Given the description of an element on the screen output the (x, y) to click on. 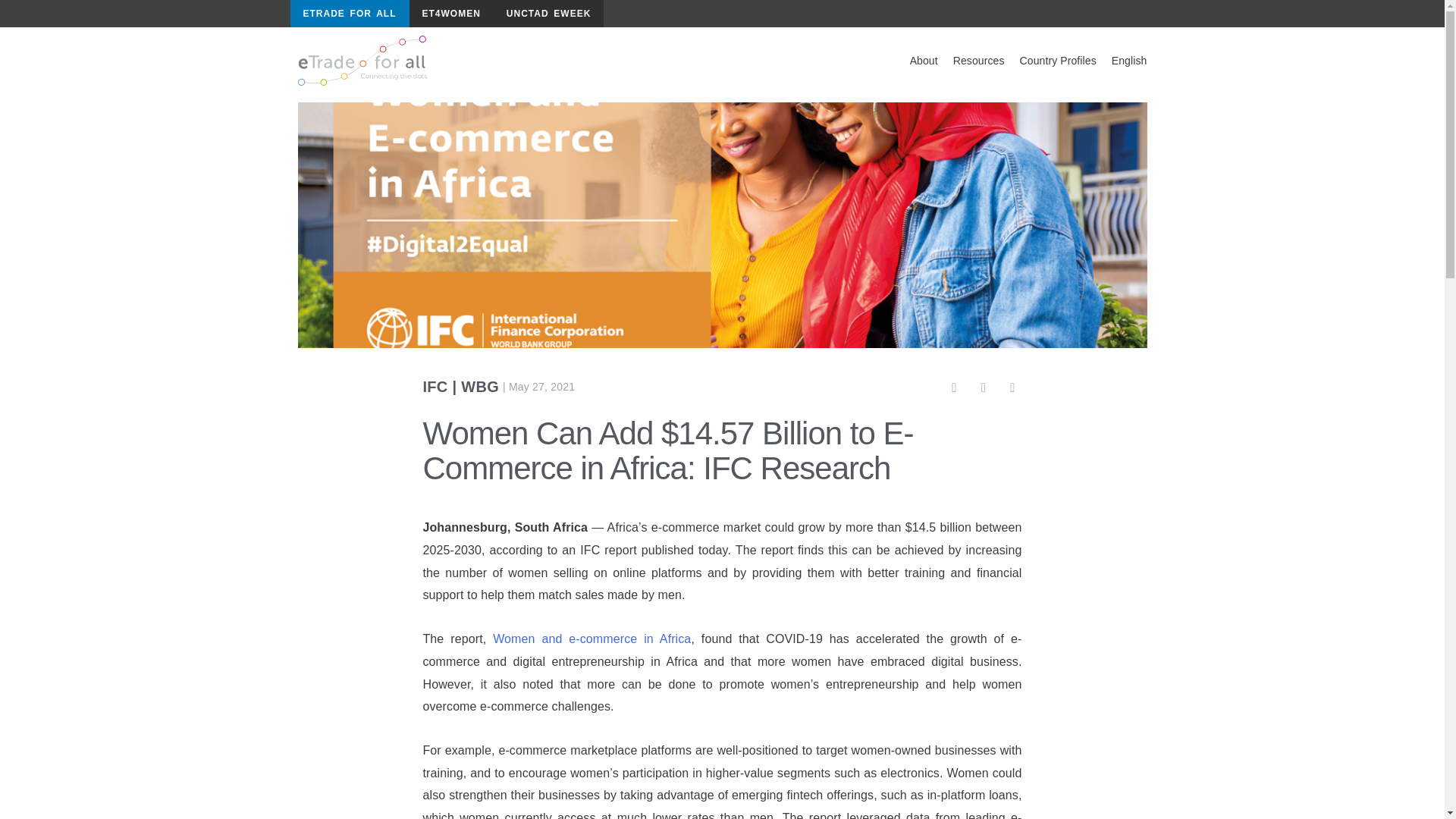
About (923, 60)
ET4WOMEN (451, 13)
Country Profiles (1057, 60)
UNCTAD EWEEK (548, 13)
English (1128, 60)
English (1128, 60)
ETRADE FOR ALL (349, 13)
Resources (977, 60)
